Given the description of an element on the screen output the (x, y) to click on. 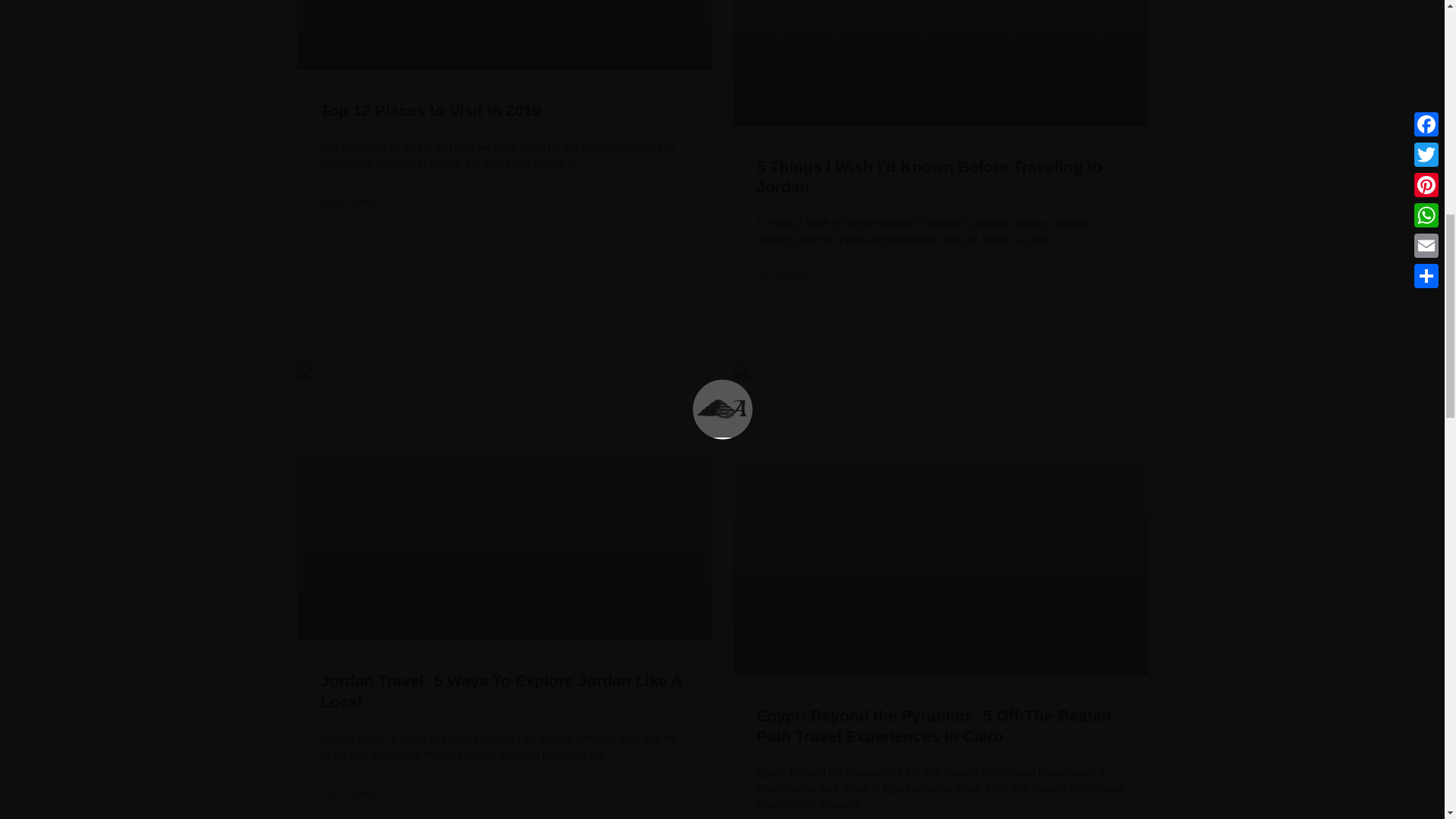
Jordan Travel: 5 Ways To Explore Jordan Like A Local (500, 690)
Top 12 Places to Visit in 2019 (430, 109)
